Given the description of an element on the screen output the (x, y) to click on. 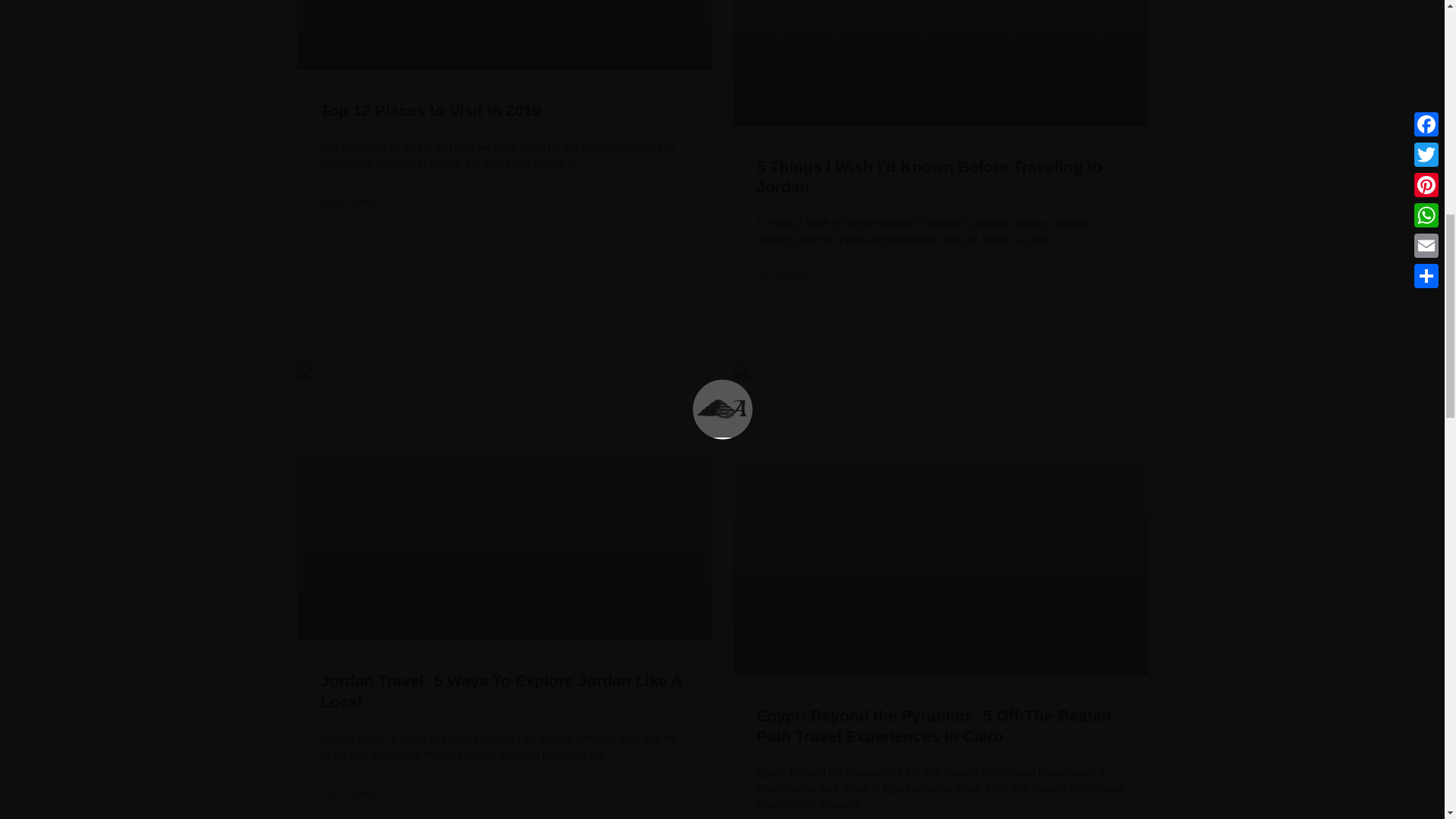
Jordan Travel: 5 Ways To Explore Jordan Like A Local (500, 690)
Top 12 Places to Visit in 2019 (430, 109)
